Given the description of an element on the screen output the (x, y) to click on. 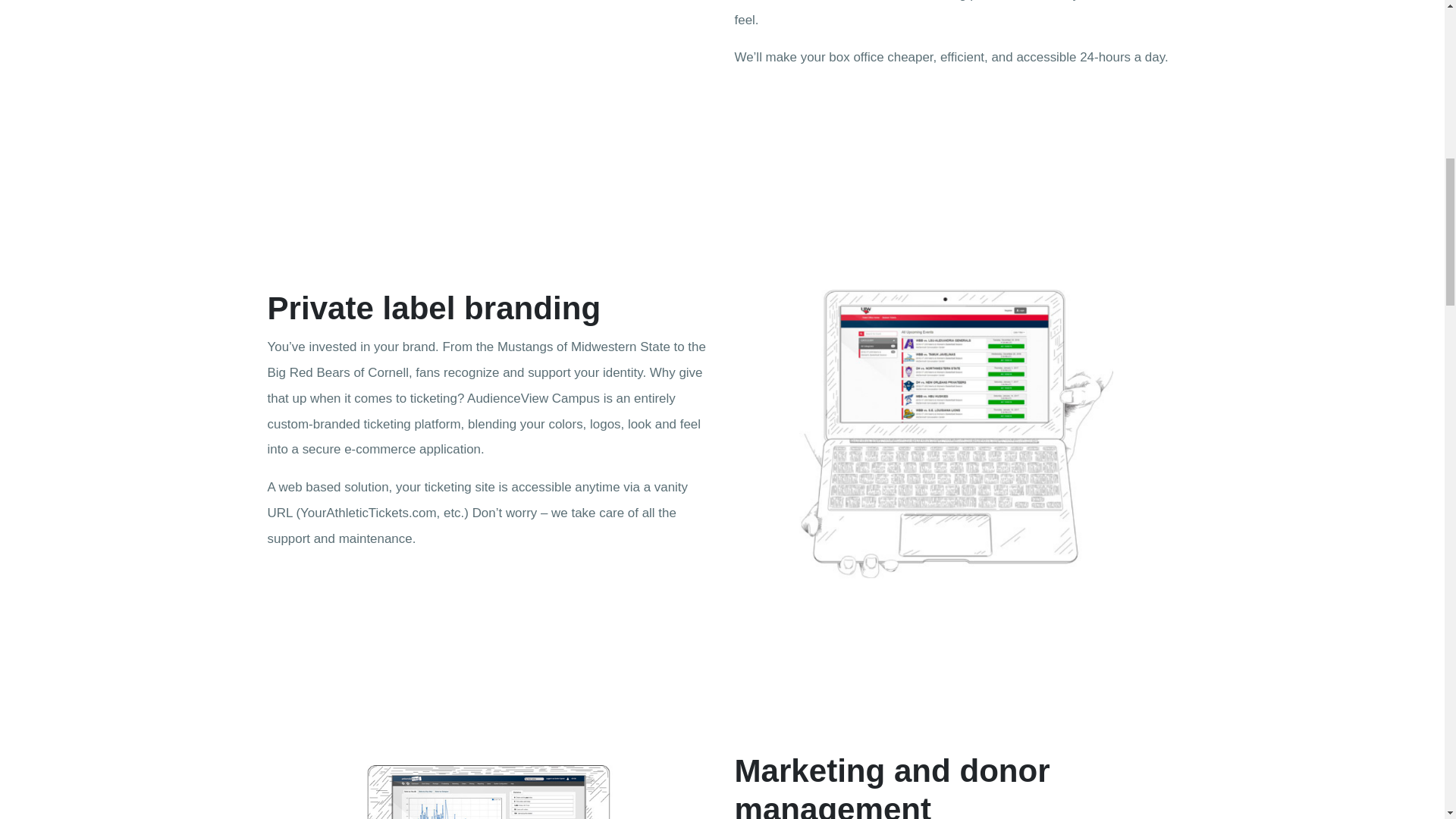
Athletics, Powered by UniversityTickets (488, 76)
